Given the description of an element on the screen output the (x, y) to click on. 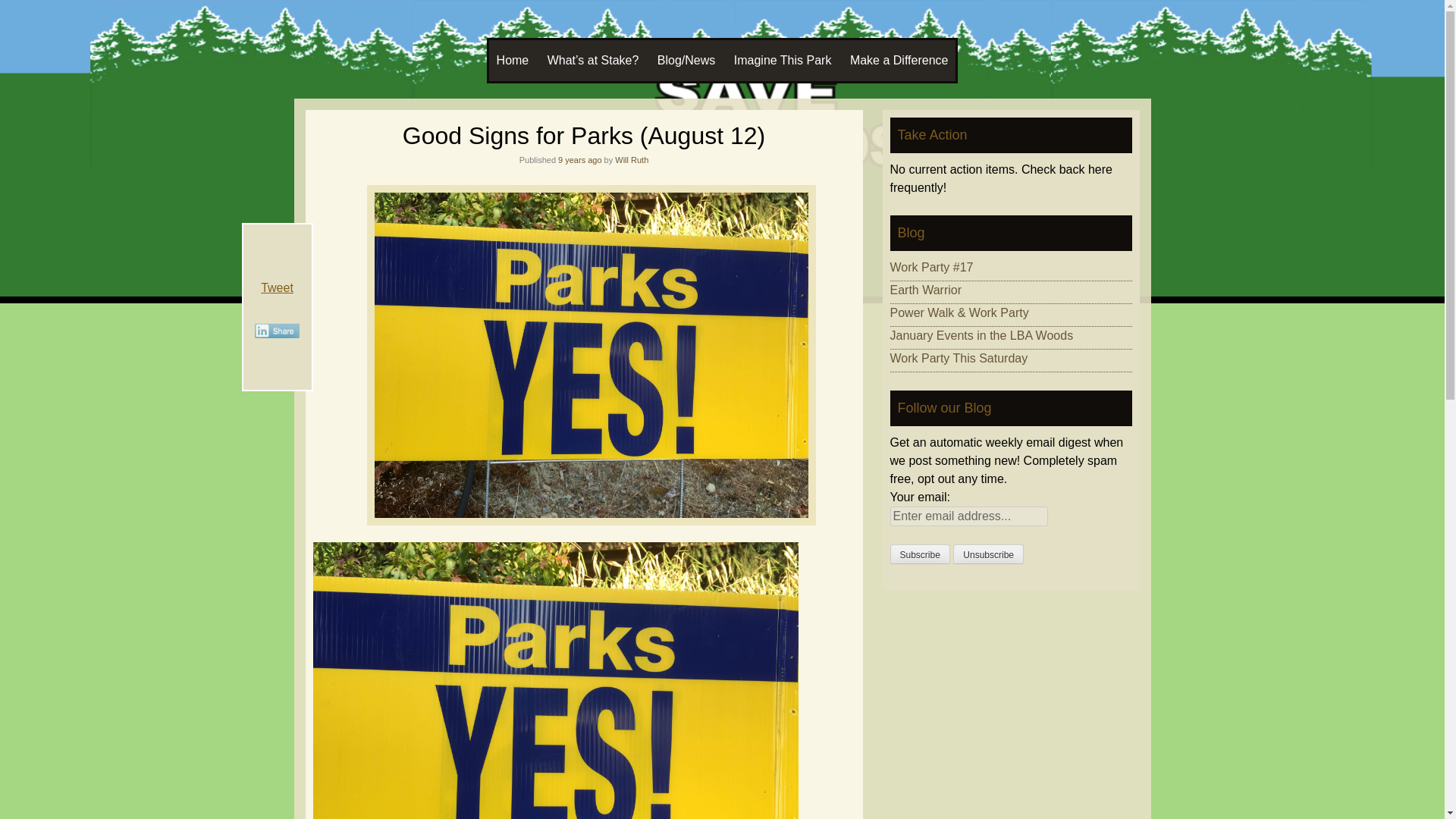
Make a Difference (899, 60)
August 12, 2015 (579, 159)
Will Ruth (630, 159)
Enter email address... (968, 516)
Home (513, 60)
Imagine This Park (783, 60)
Earth Warrior (925, 289)
9 years ago (579, 159)
LBA Woods Park Coalition (213, 26)
Subscribe (919, 554)
Share (276, 330)
Unsubscribe (988, 554)
Tweet (277, 286)
